Given the description of an element on the screen output the (x, y) to click on. 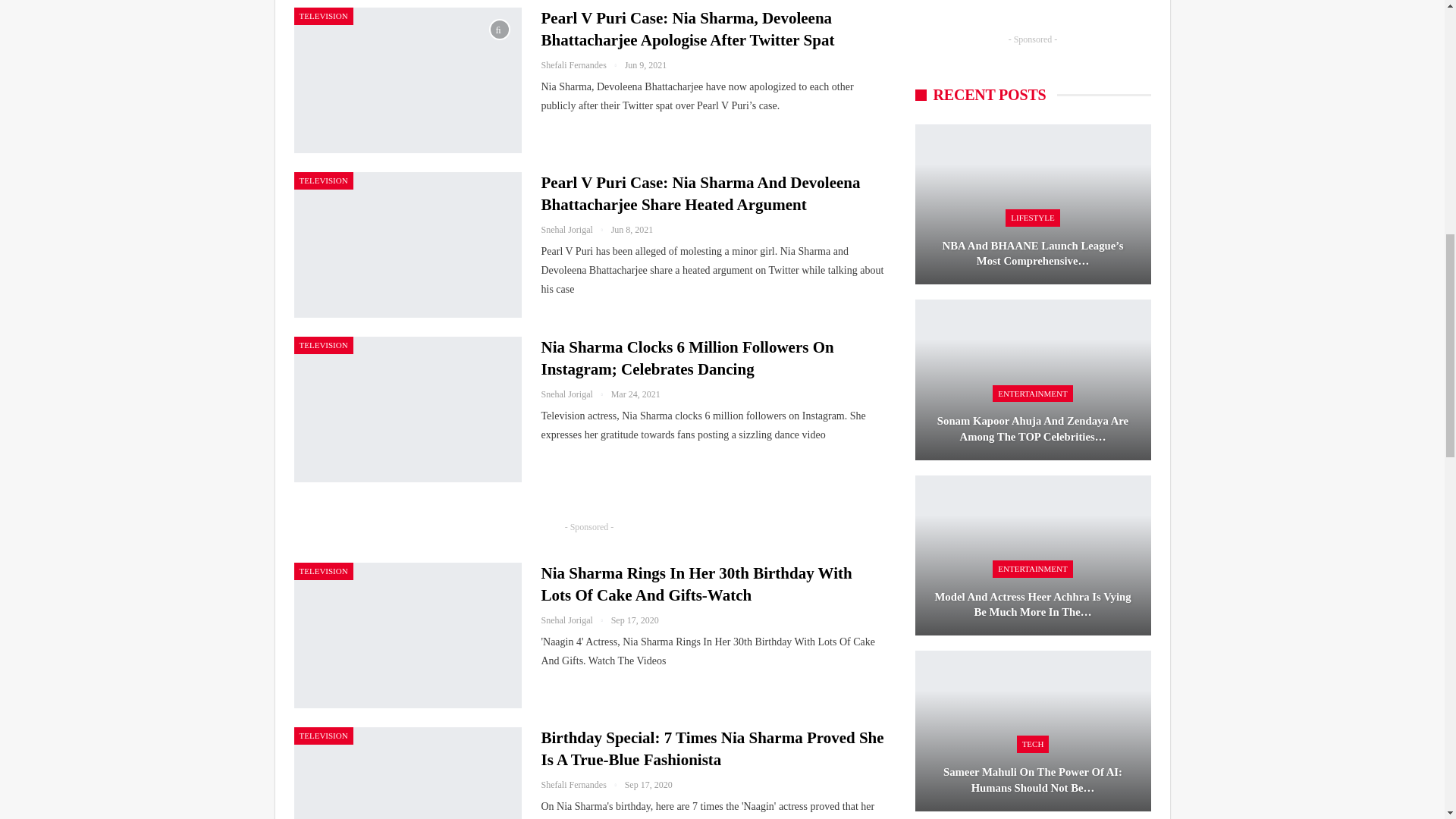
Browse Author Articles (576, 394)
Browse Author Articles (582, 64)
Browse Author Articles (576, 620)
Browse Author Articles (582, 784)
Browse Author Articles (576, 229)
